Given the description of an element on the screen output the (x, y) to click on. 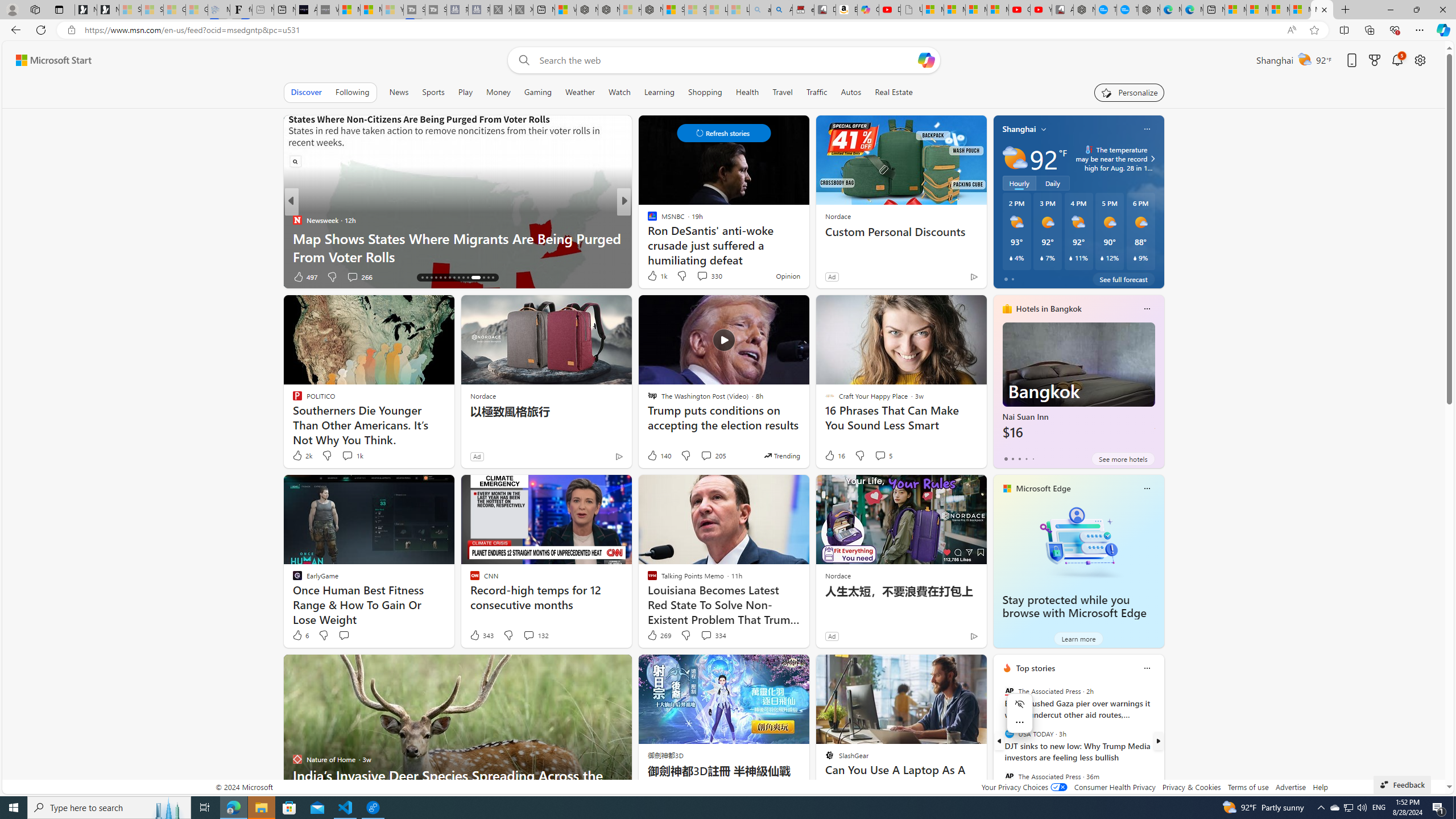
Microsoft account | Microsoft Account Privacy Settings (1256, 9)
Microsoft rewards (1374, 60)
Gloom - YouTube (1019, 9)
News (398, 92)
Real Estate (893, 92)
tab-3 (1025, 458)
Hotels in Bangkok (1048, 308)
Money (497, 92)
